Given the description of an element on the screen output the (x, y) to click on. 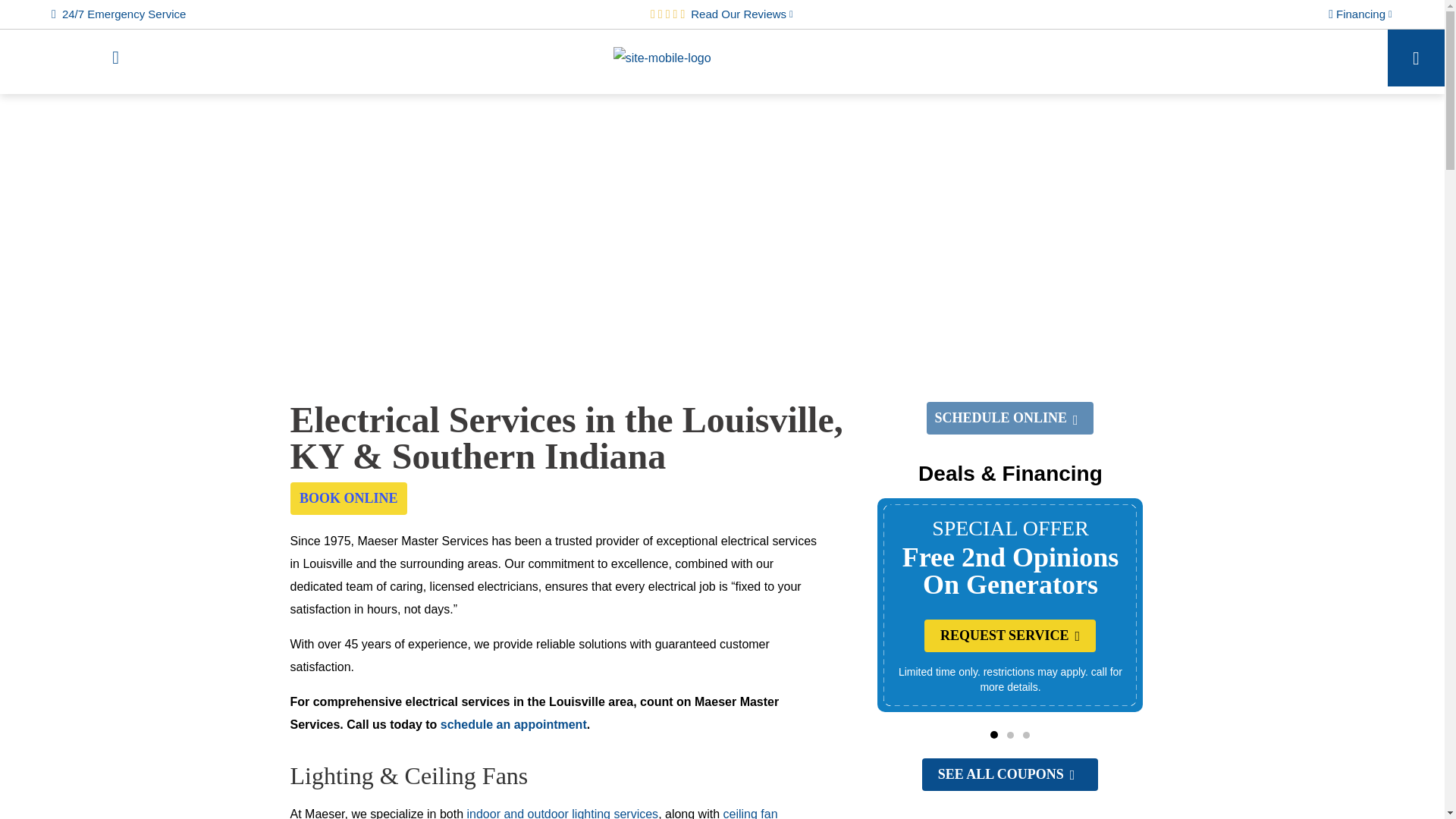
Financing (1360, 13)
Read Our Reviews (741, 13)
Read Our Reviews (741, 13)
Financing (1360, 13)
